Given the description of an element on the screen output the (x, y) to click on. 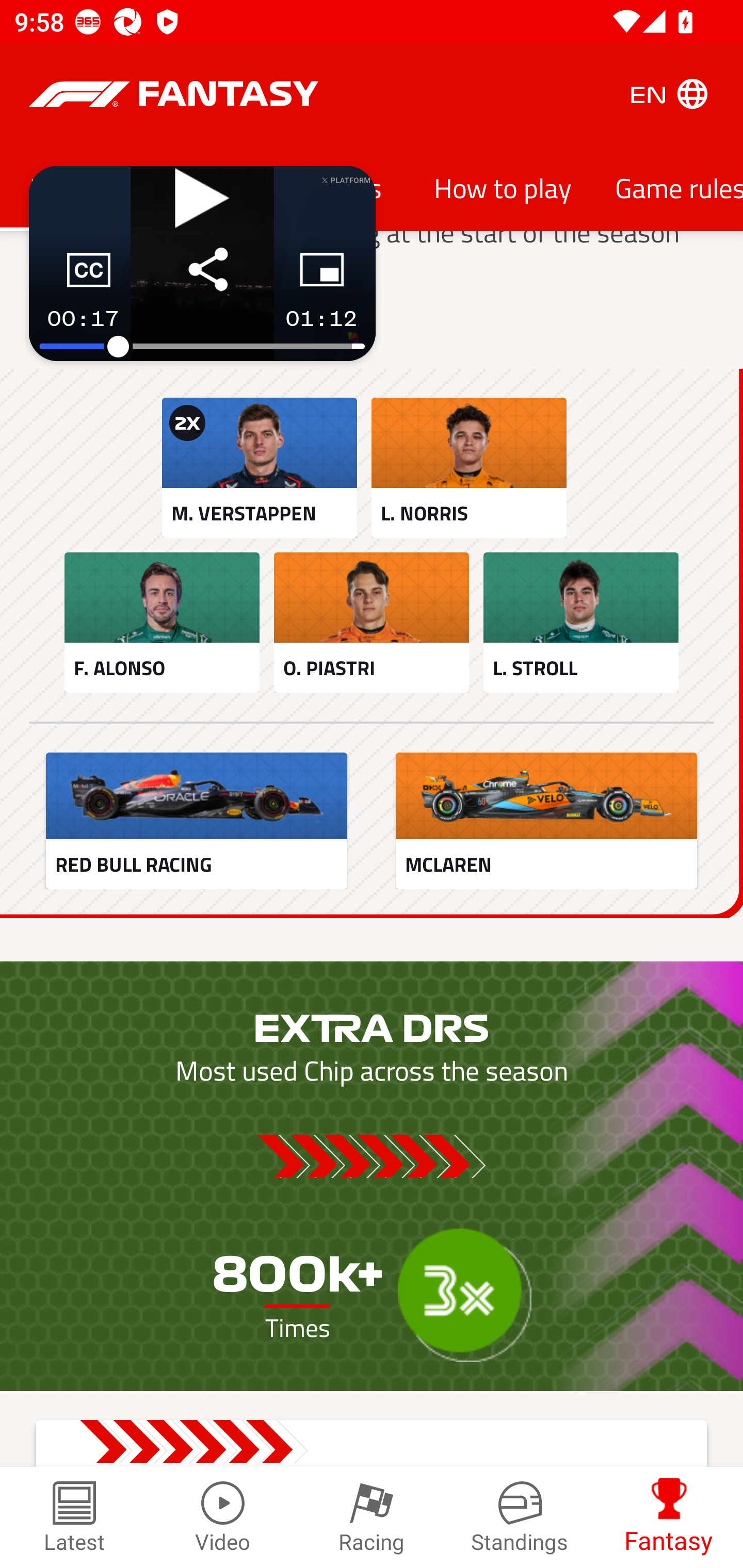
How to play (502, 187)
Game rules (668, 187)
2X M. VERSTAPPEN (259, 467)
L. NORRIS (468, 467)
F. ALONSO (161, 622)
O. PIASTRI (371, 622)
L. STROLL (580, 622)
RED BULL RACING (196, 820)
MCLAREN (546, 820)
Latest (74, 1517)
Video (222, 1517)
Racing (371, 1517)
Standings (519, 1517)
